Given the description of an element on the screen output the (x, y) to click on. 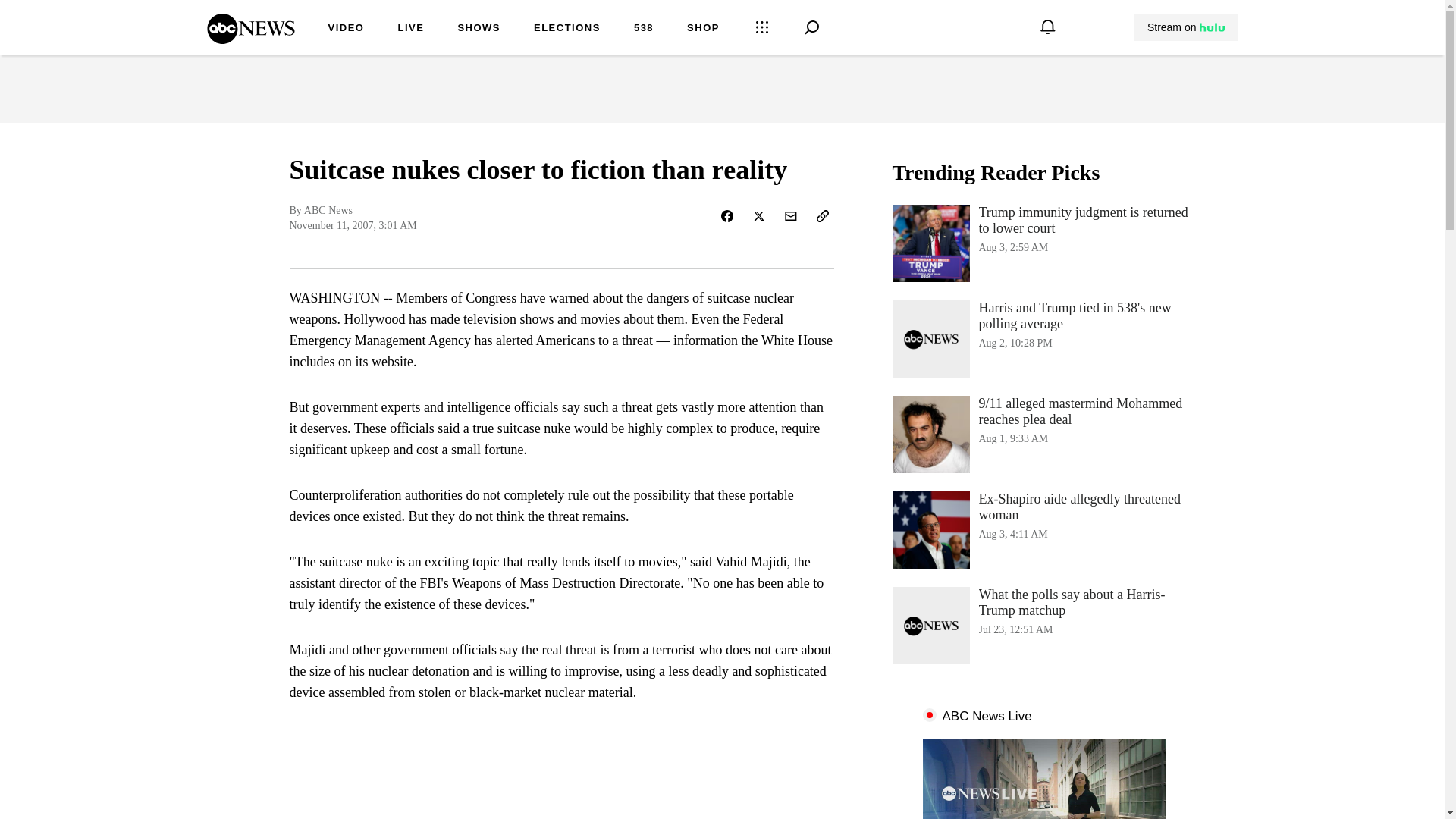
SHOP (703, 28)
538 (643, 28)
SHOWS (1043, 529)
ELECTIONS (478, 28)
Stream on (566, 28)
Stream on (1186, 26)
VIDEO (1185, 27)
LIVE (345, 28)
ABC News (410, 28)
